Given the description of an element on the screen output the (x, y) to click on. 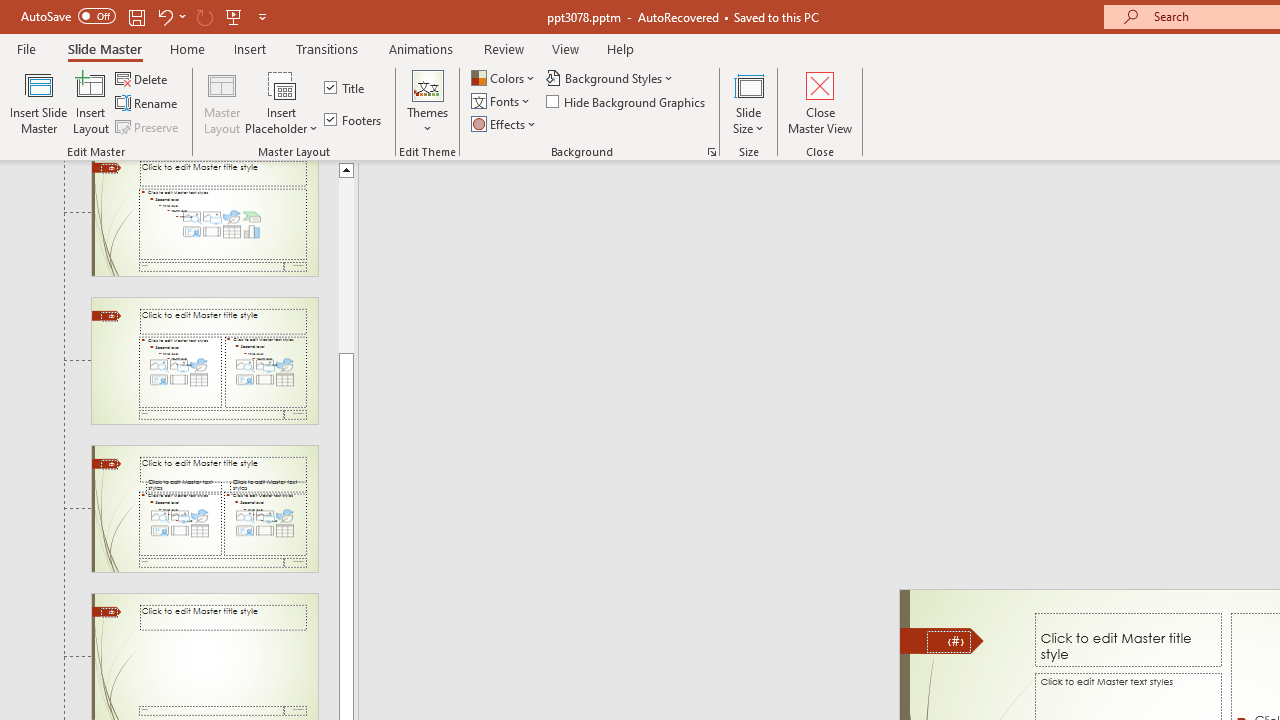
Slide Title and Content Layout: used by no slides (204, 218)
Effects (505, 124)
Content (282, 84)
Format Background... (711, 151)
Master Layout... (221, 102)
Slide Two Content Layout: used by no slides (204, 361)
Slide Size (749, 102)
Slide Master (104, 48)
Title TextBox (1128, 639)
Background Styles (610, 78)
